Given the description of an element on the screen output the (x, y) to click on. 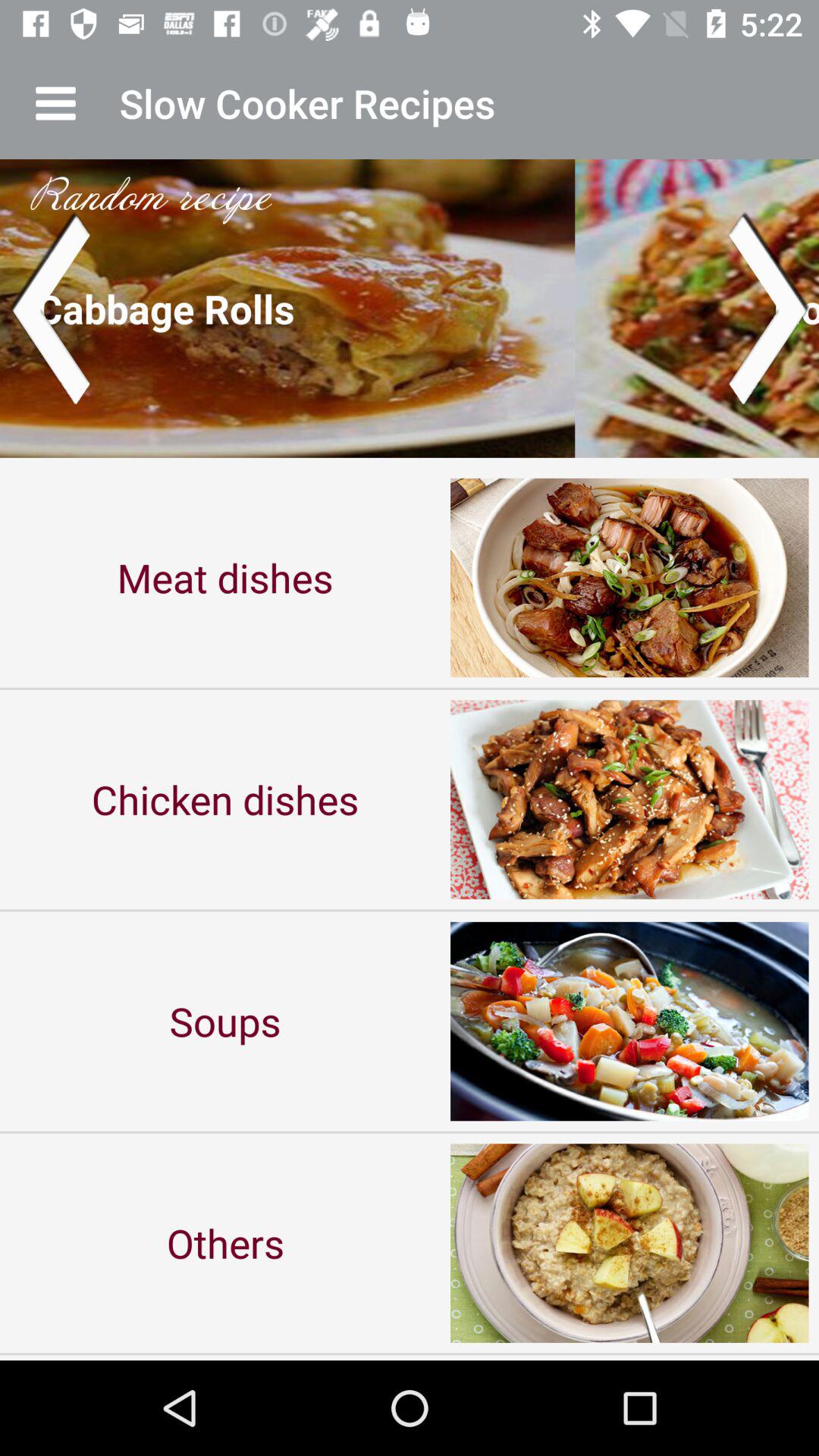
launch the others icon (225, 1242)
